Given the description of an element on the screen output the (x, y) to click on. 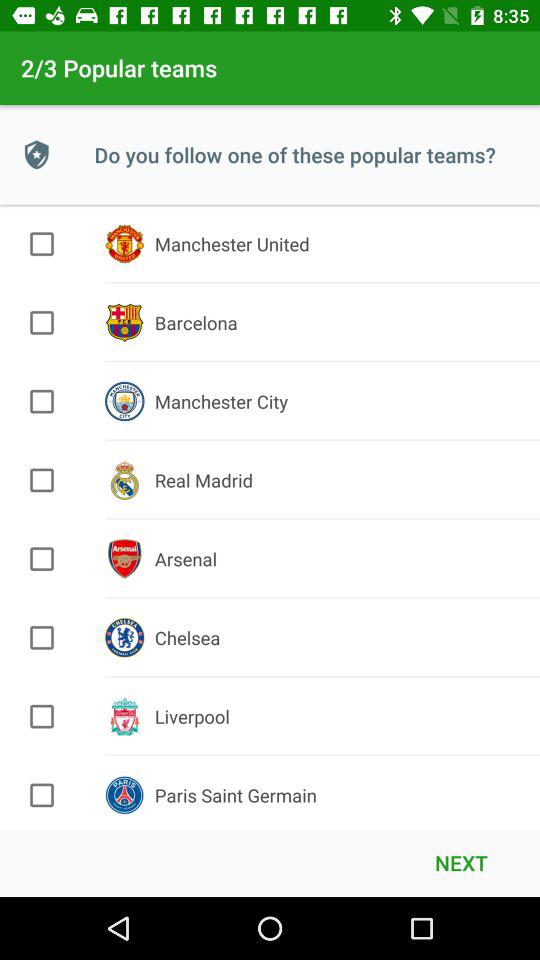
tick the item (42, 480)
